Given the description of an element on the screen output the (x, y) to click on. 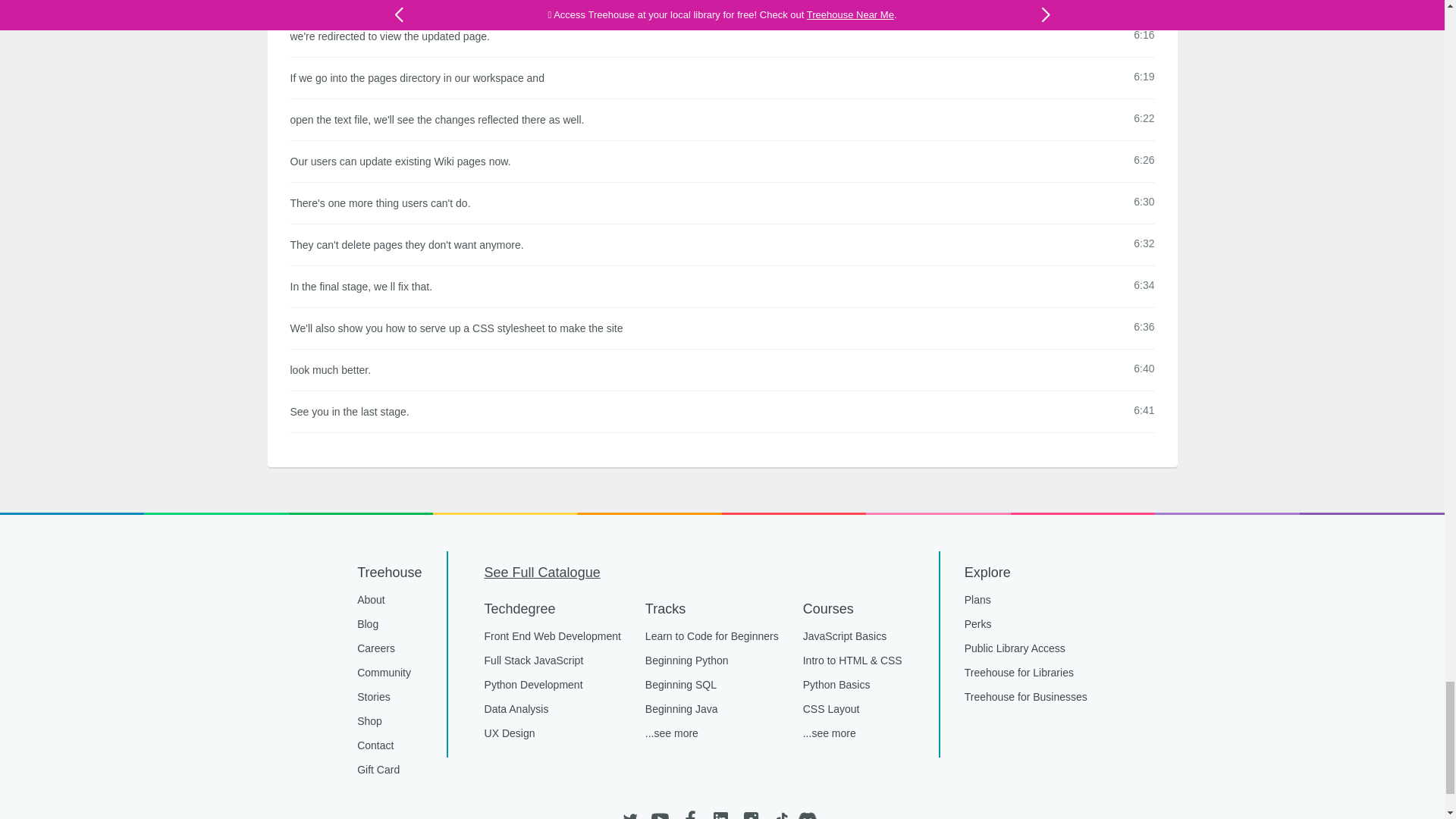
Instagram (749, 812)
TikTok (780, 812)
Instagram (749, 812)
LinkedIn (719, 812)
Facebook (690, 812)
Discord (810, 812)
Twitter (628, 812)
YouTube (659, 812)
Twitter (628, 812)
Facebook (690, 812)
